Given the description of an element on the screen output the (x, y) to click on. 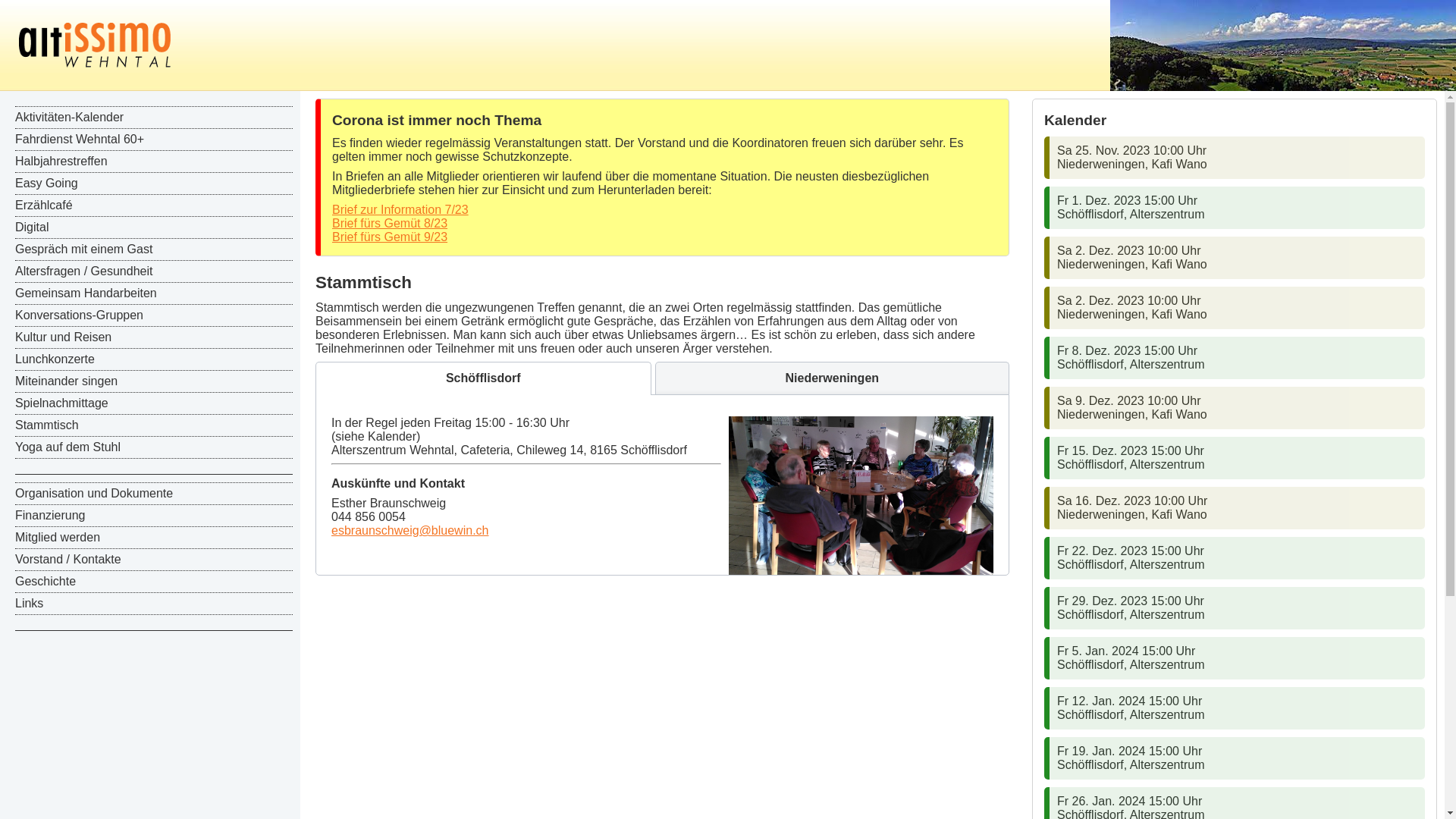
Miteinander singen Element type: text (153, 381)
Vorstand / Kontakte Element type: text (153, 560)
Easy Going Element type: text (153, 183)
Fahrdienst Wehntal 60+ Element type: text (153, 139)
Mitglied werden Element type: text (153, 538)
Lunchkonzerte Element type: text (153, 359)
Gemeinsam Handarbeiten Element type: text (153, 293)
Geschichte Element type: text (153, 582)
Halbjahrestreffen Element type: text (153, 161)
Altersfragen / Gesundheit Element type: text (153, 271)
Organisation und Dokumente Element type: text (153, 494)
Links Element type: text (153, 604)
Yoga auf dem Stuhl Element type: text (153, 447)
Kultur und Reisen Element type: text (153, 337)
Brief zur Information 7/23 Element type: text (400, 209)
Digital Element type: text (153, 227)
Stammtisch Element type: text (153, 425)
Konversations-Gruppen Element type: text (153, 315)
Finanzierung Element type: text (153, 516)
esbraunschweig@bluewin.ch Element type: text (409, 530)
Spielnachmittage Element type: text (153, 403)
